Given the description of an element on the screen output the (x, y) to click on. 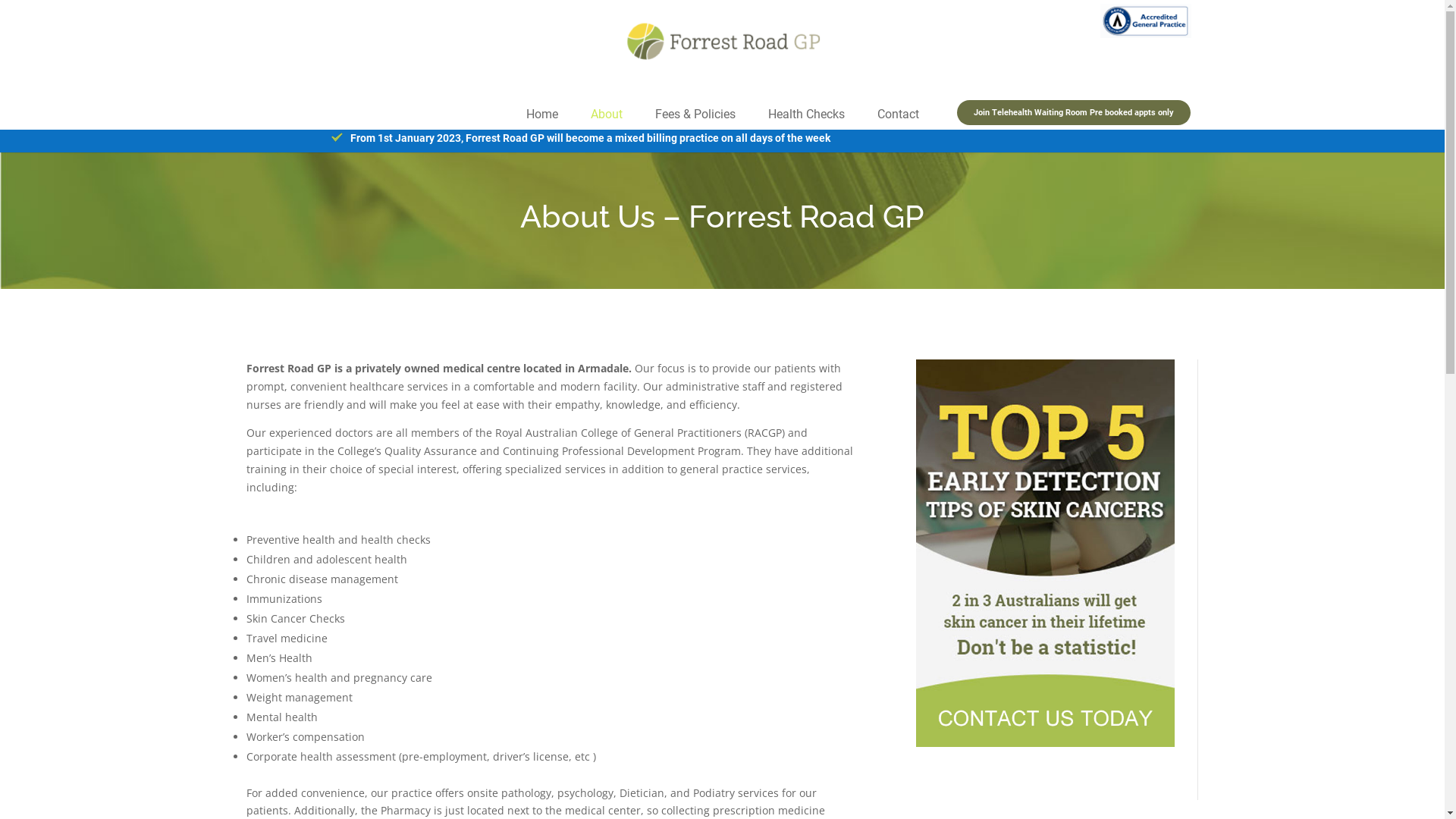
Join Telehealth Waiting Room Pre booked appts only Element type: text (1073, 112)
Home Element type: text (542, 119)
Fees & Policies Element type: text (695, 119)
Contact Element type: text (897, 119)
About Element type: text (605, 119)
Health Checks Element type: text (805, 119)
